Given the description of an element on the screen output the (x, y) to click on. 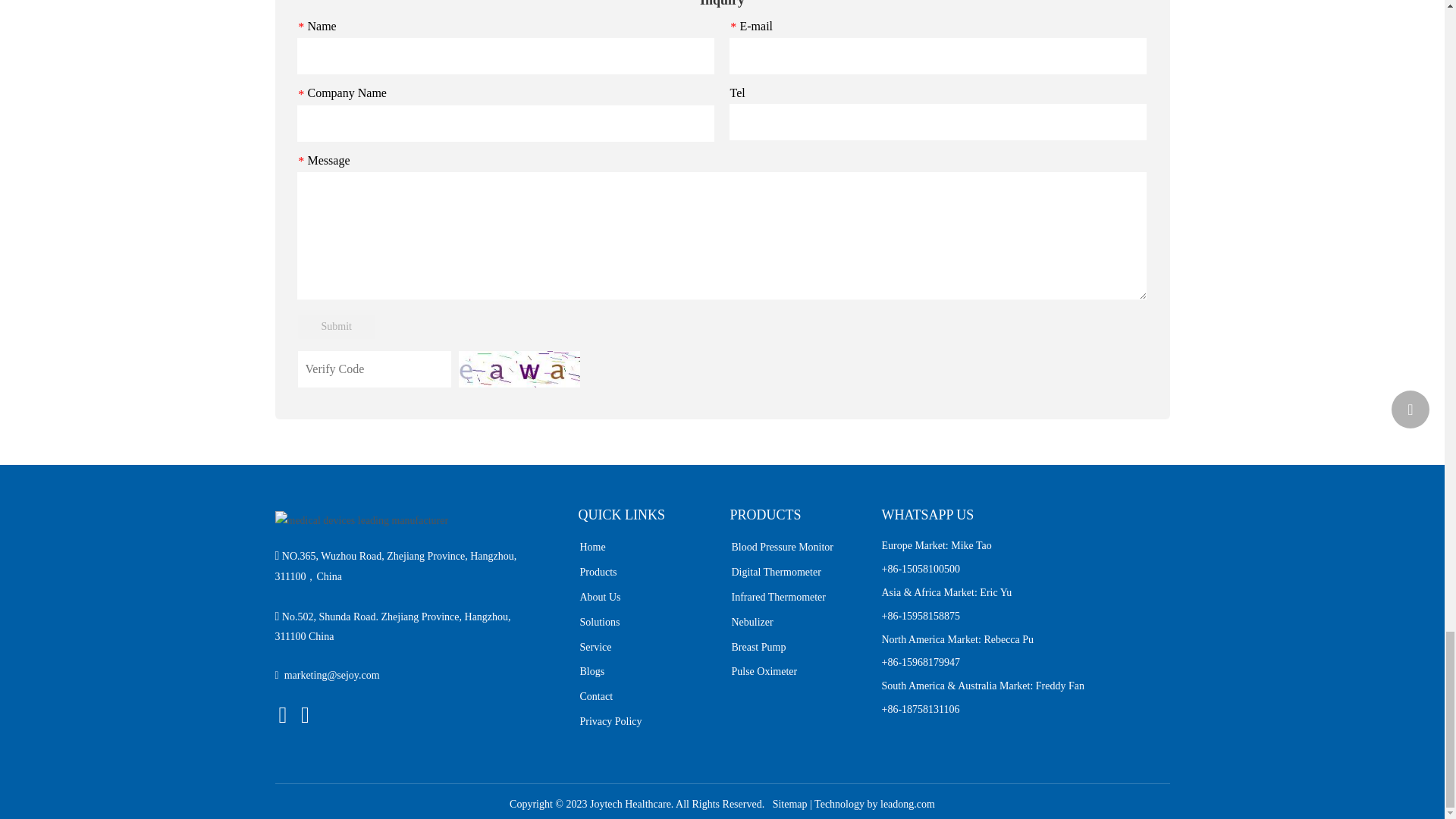
About Us (599, 596)
Contact (595, 696)
Blogs (591, 671)
Privacy Policy (610, 721)
Solutions (599, 622)
Home (592, 546)
Service (595, 646)
Products (597, 572)
Blood Pressure Monitor (781, 546)
medical devices leading manufacturer (361, 520)
